Given the description of an element on the screen output the (x, y) to click on. 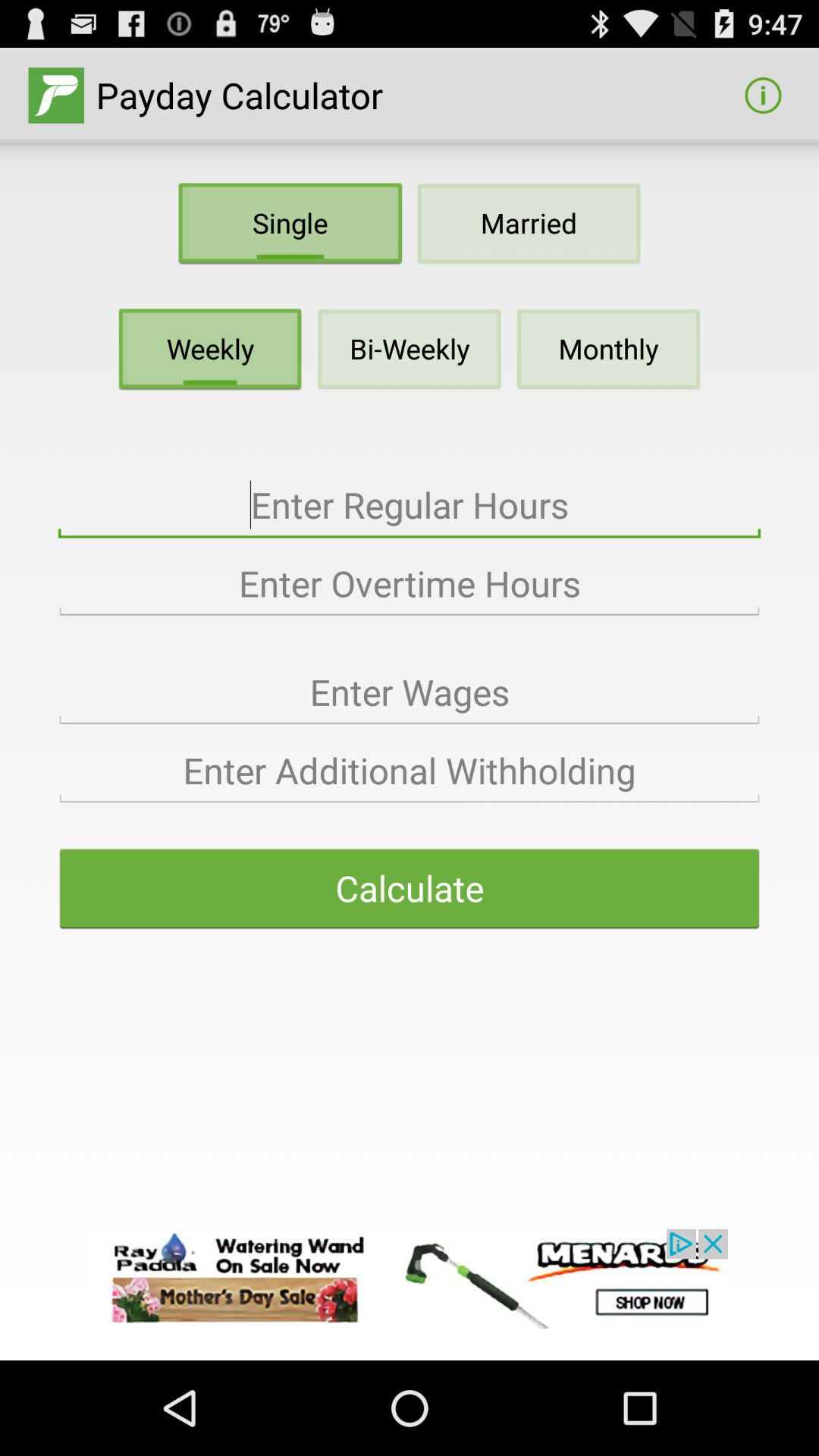
enter wages option bar (409, 692)
